Given the description of an element on the screen output the (x, y) to click on. 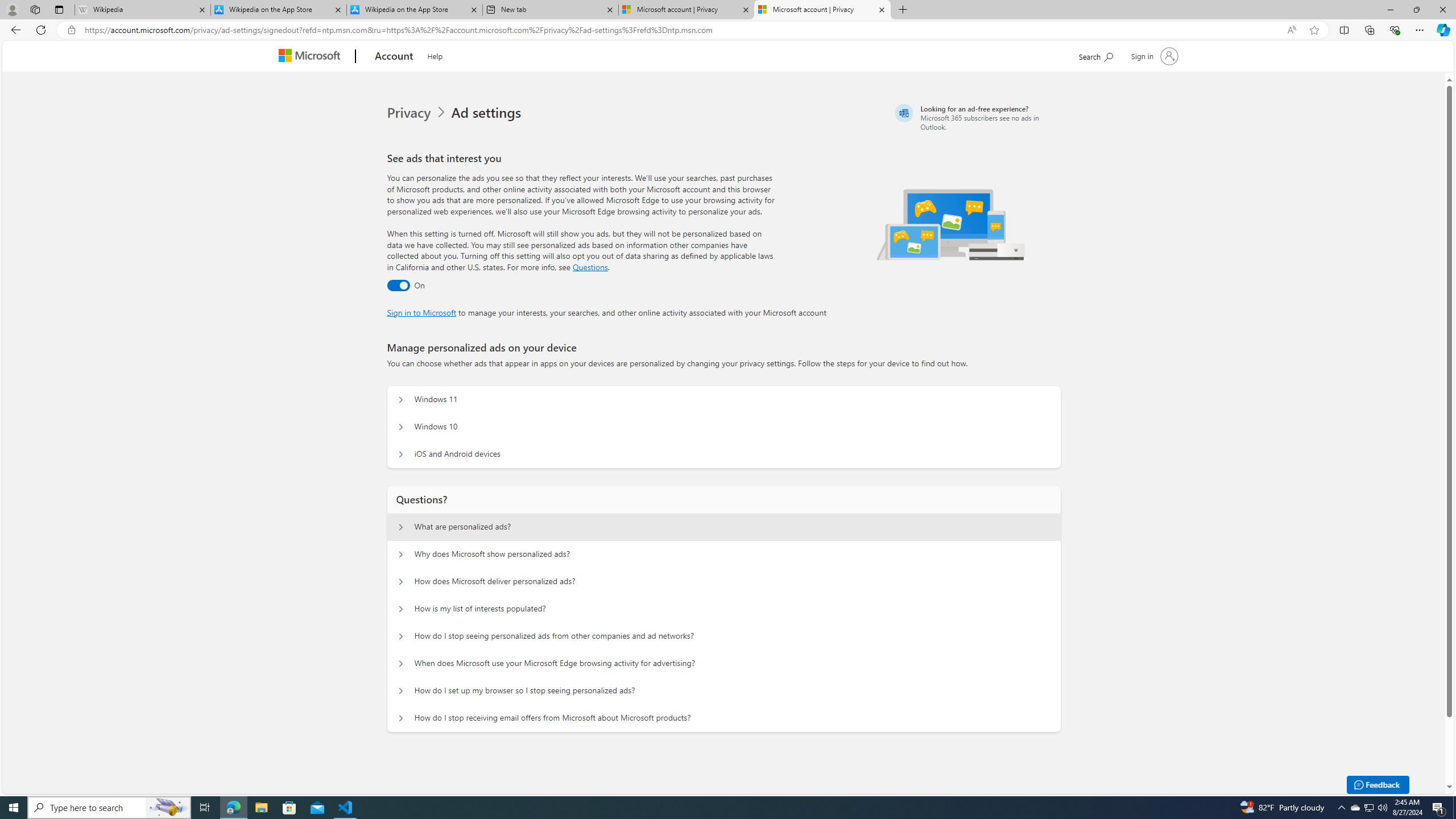
Questions? Why does Microsoft show personalized ads? (401, 554)
Ad settings toggle (398, 285)
Questions? What are personalized ads? (401, 526)
Manage personalized ads on your device Windows 10 (401, 427)
